Given the description of an element on the screen output the (x, y) to click on. 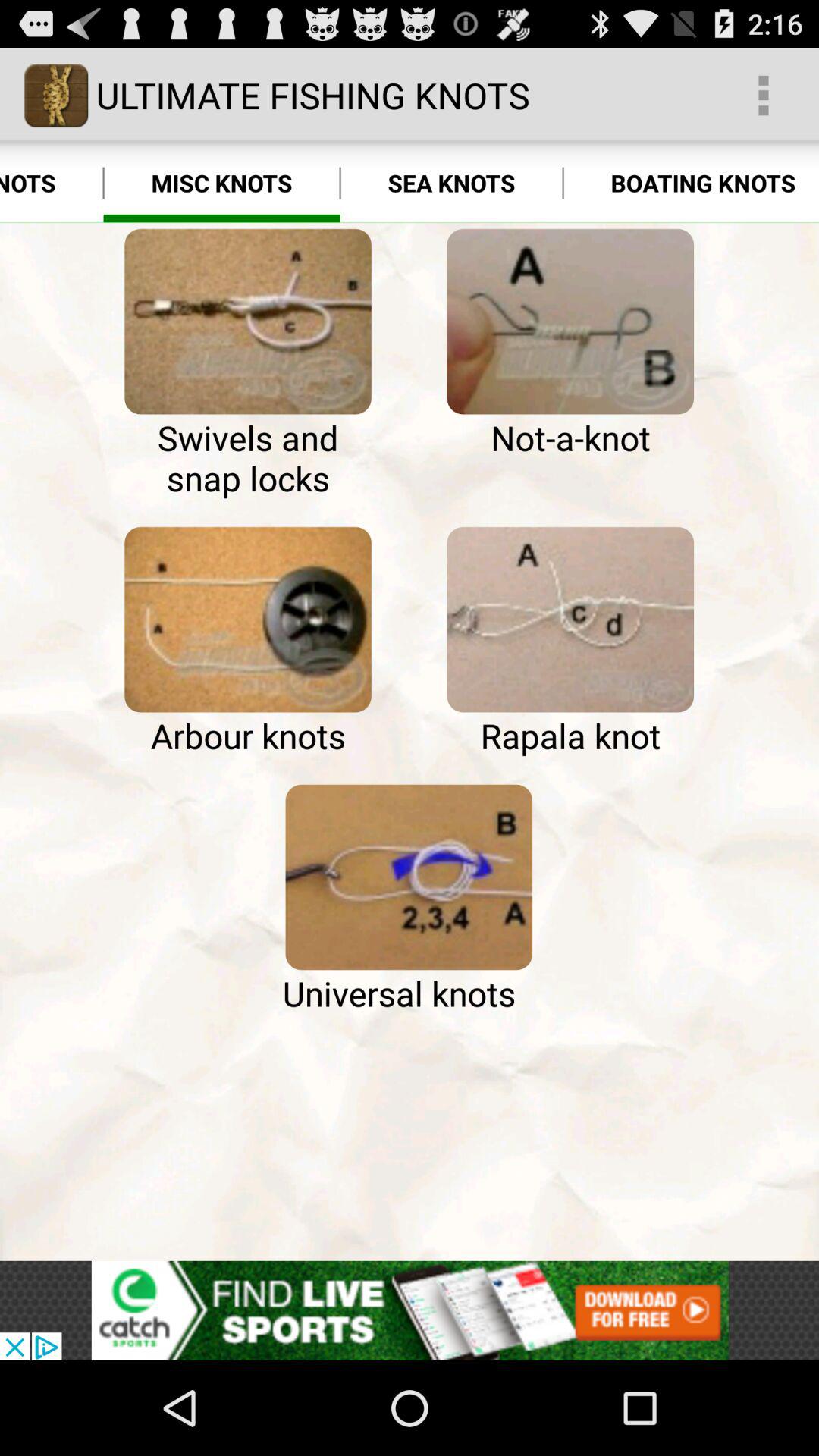
open arbour knots (247, 619)
